Given the description of an element on the screen output the (x, y) to click on. 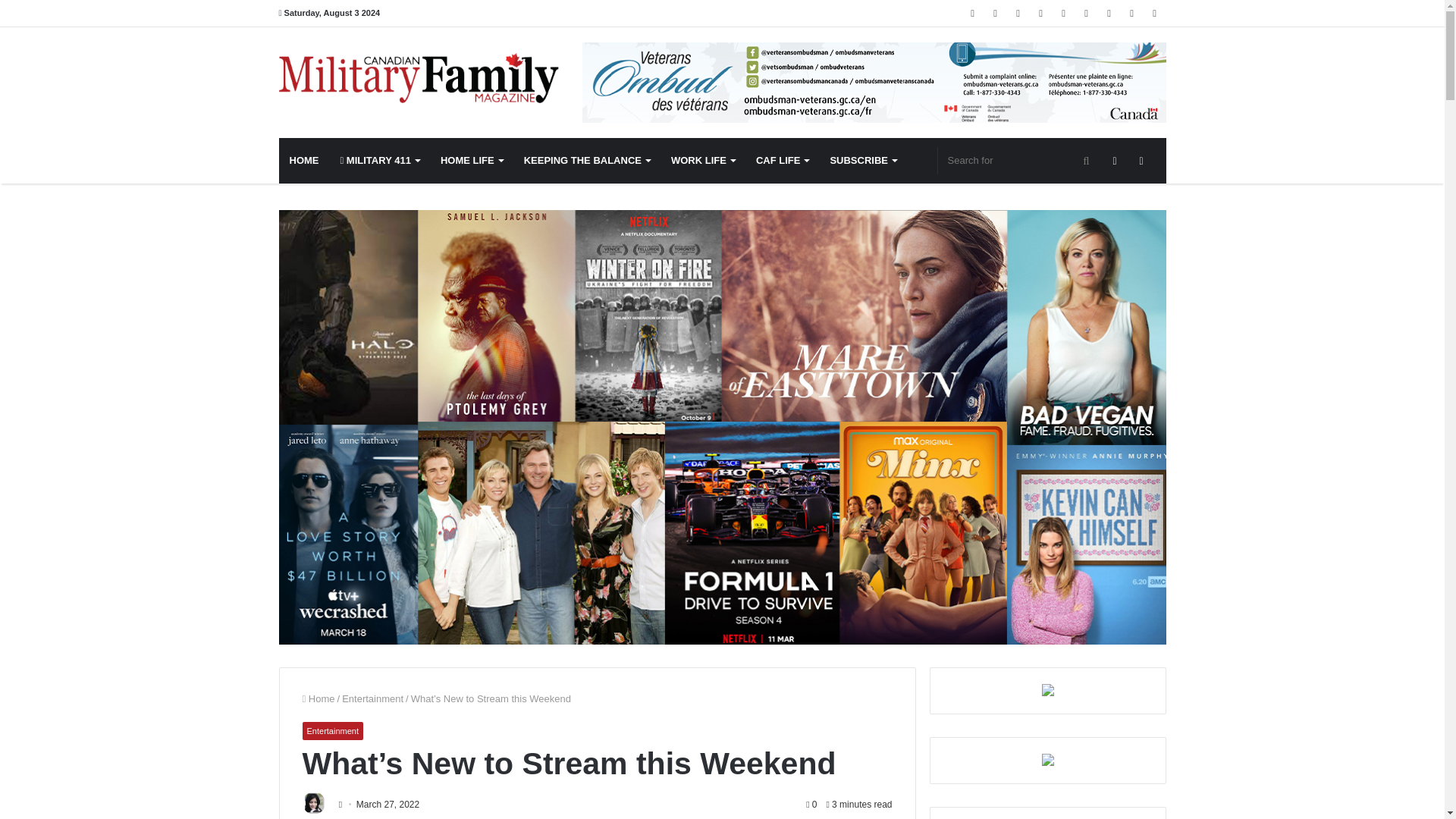
Search for (1018, 160)
HOME LIFE (471, 160)
HOME (304, 160)
WORK LIFE (703, 160)
MILITARY 411 (379, 160)
Canadian Military Family Magazine (419, 78)
KEEPING THE BALANCE (587, 160)
